Given the description of an element on the screen output the (x, y) to click on. 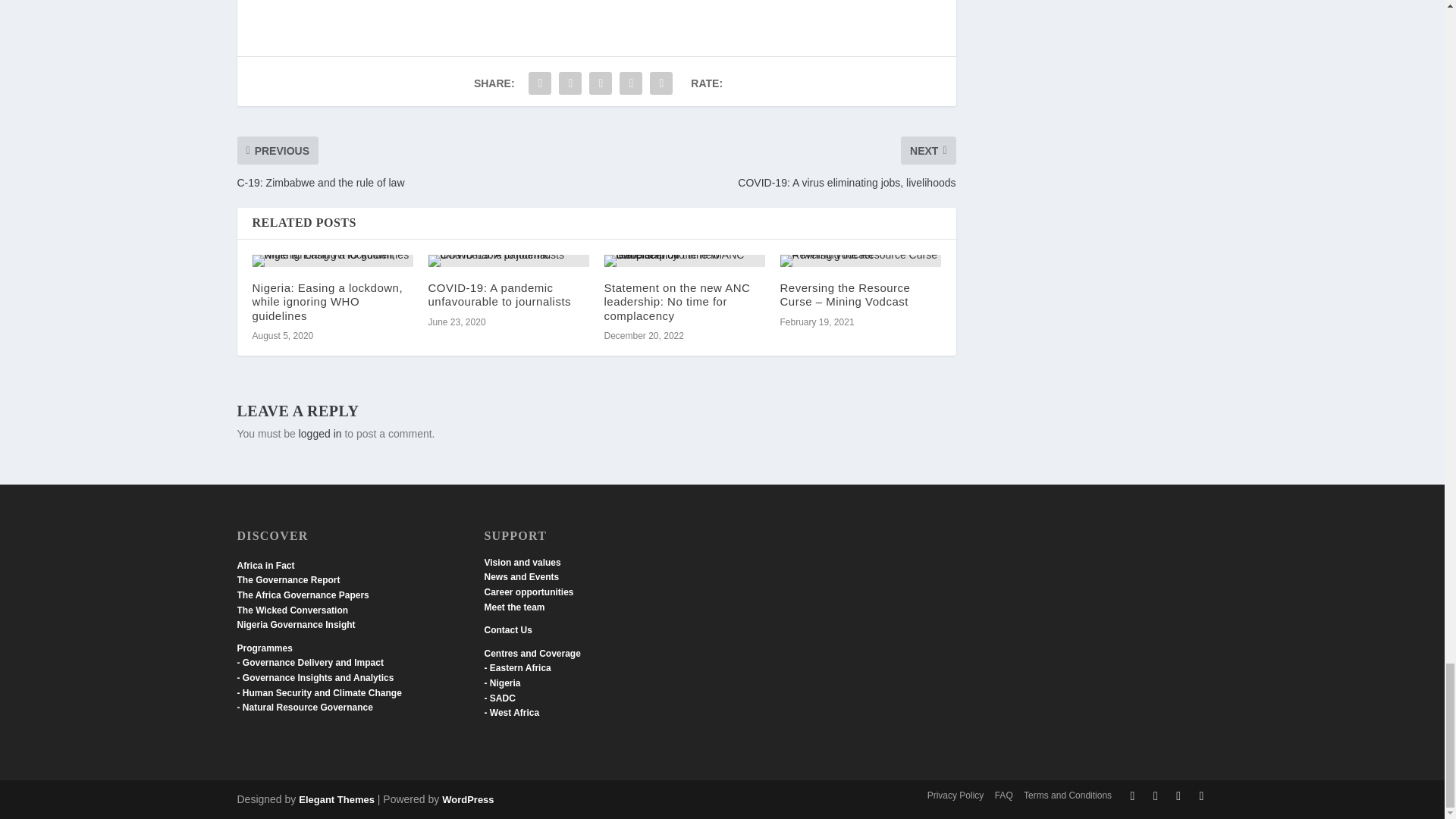
Share "C-19: Ethiopia and the rule of law" via Stumbleupon (630, 82)
Statement on the new ANC leadership: No time for complacency (684, 260)
Nigeria: Easing a lockdown, while ignoring WHO guidelines (331, 260)
Share "C-19: Ethiopia and the rule of law" via Email (661, 82)
Share "C-19: Ethiopia and the rule of law" via Twitter (569, 82)
COVID-19: A pandemic unfavourable to journalists (508, 260)
Share "C-19: Ethiopia and the rule of law" via Facebook (539, 82)
Share "C-19: Ethiopia and the rule of law" via LinkedIn (600, 82)
